Given the description of an element on the screen output the (x, y) to click on. 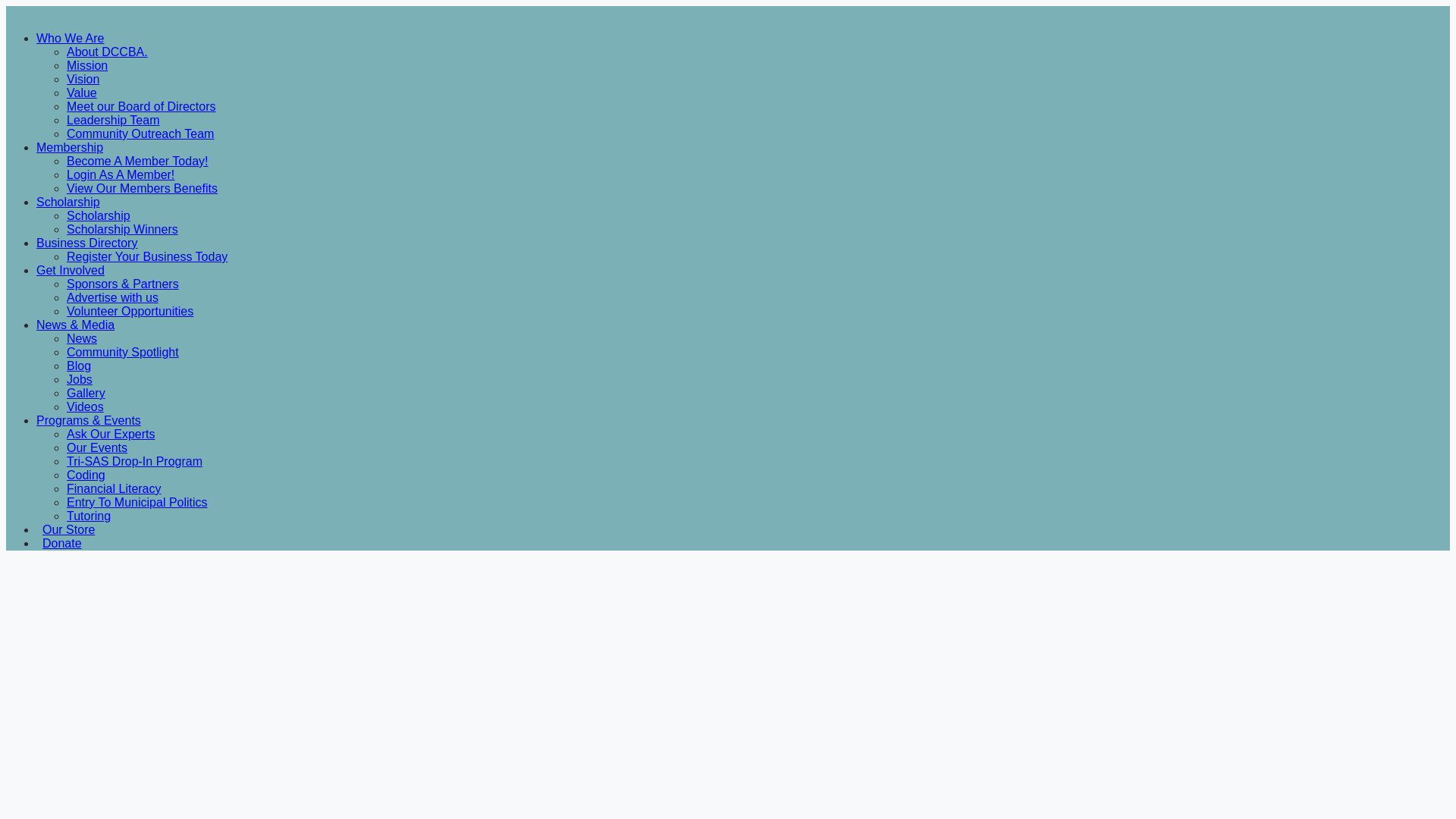
Membership (69, 146)
Our Events (97, 447)
Vision (82, 78)
Videos (84, 406)
Gallery (85, 392)
Scholarship (98, 215)
View Our Members Benefits (141, 187)
Entry To Municipal Politics (137, 502)
Community Spotlight (122, 351)
Get Involved (70, 269)
